Given the description of an element on the screen output the (x, y) to click on. 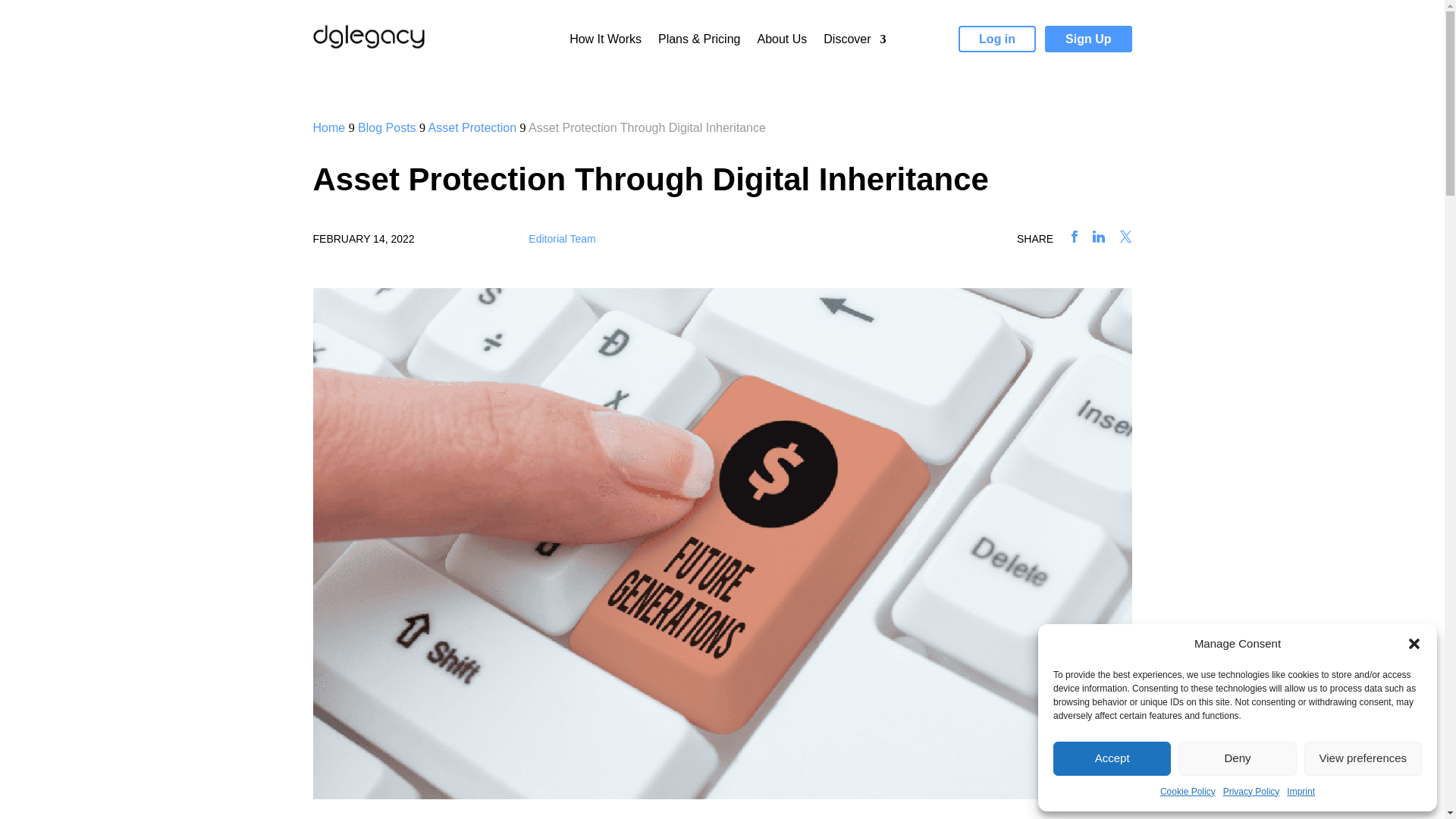
How It Works (605, 42)
Imprint (1300, 791)
About Us (781, 42)
Privacy Policy (1251, 791)
Accept (1111, 758)
Cookie Policy (1187, 791)
Deny (1236, 758)
View preferences (1363, 758)
Discover (854, 42)
